Given the description of an element on the screen output the (x, y) to click on. 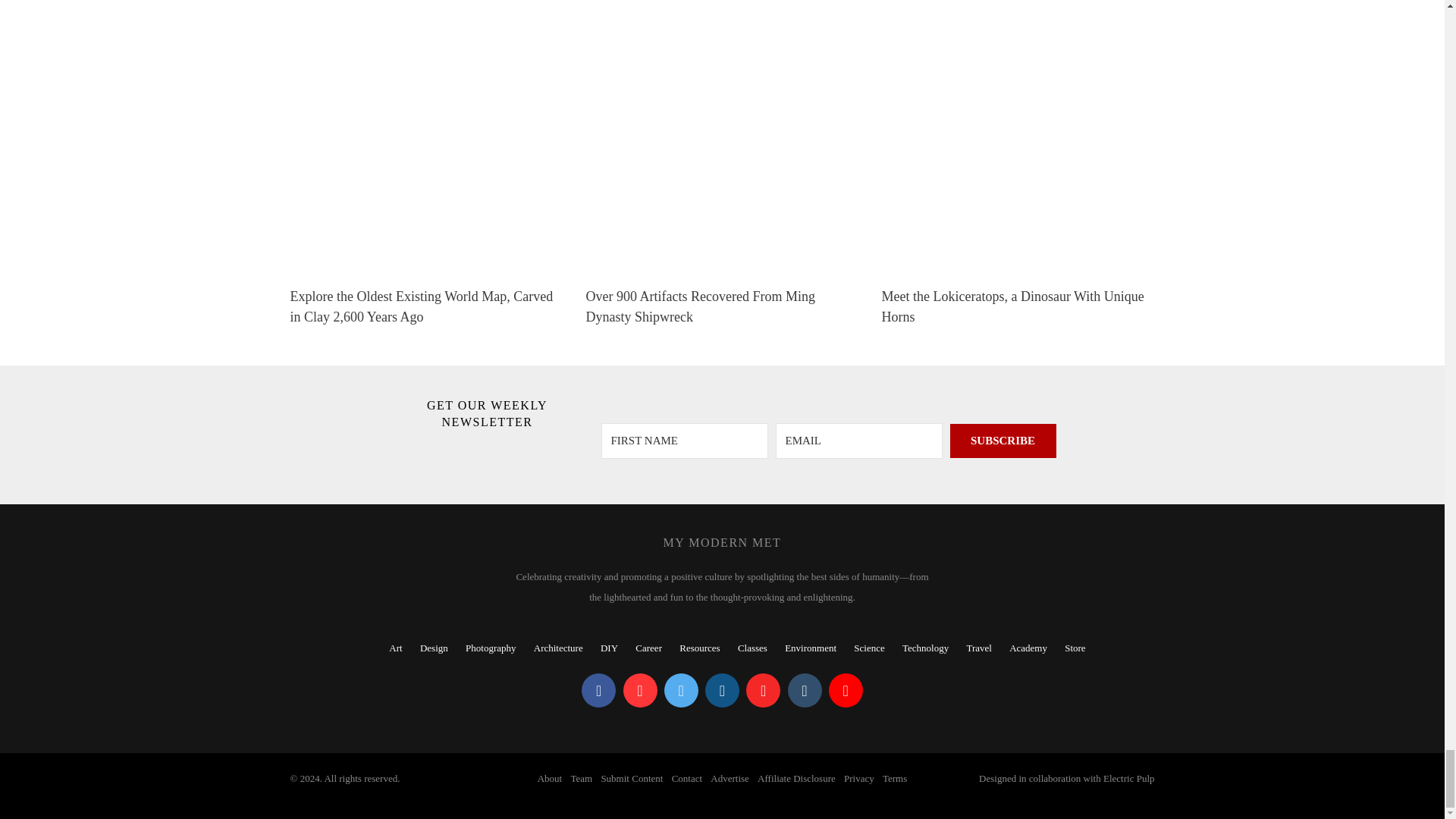
My Modern Met on YouTube (845, 690)
My Modern Met on Pinterest (640, 690)
My Modern Met on Tumblr (804, 690)
My Modern Met on Facebook (597, 690)
My Modern Met on Instagram (721, 690)
My Modern Met on Twitter (680, 690)
